Given the description of an element on the screen output the (x, y) to click on. 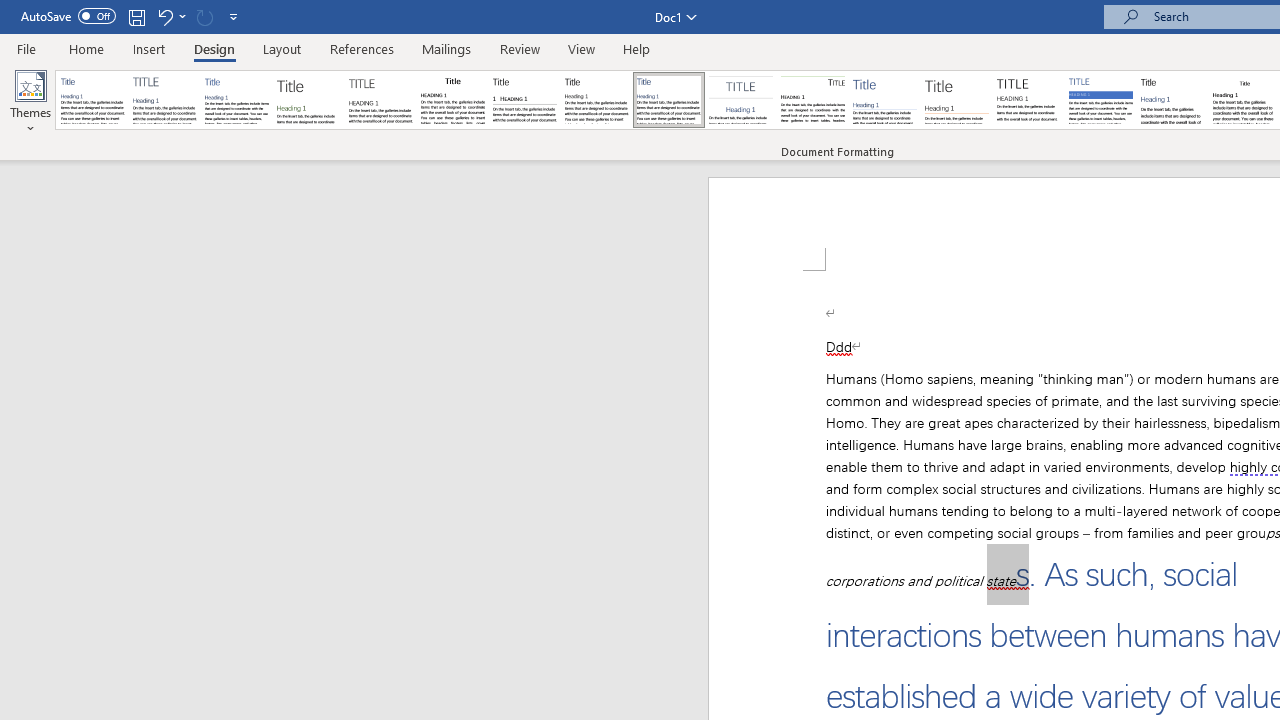
Word (1172, 100)
Undo Outline Move Up (170, 15)
Black & White (Classic) (452, 100)
Can't Repeat (204, 15)
